Given the description of an element on the screen output the (x, y) to click on. 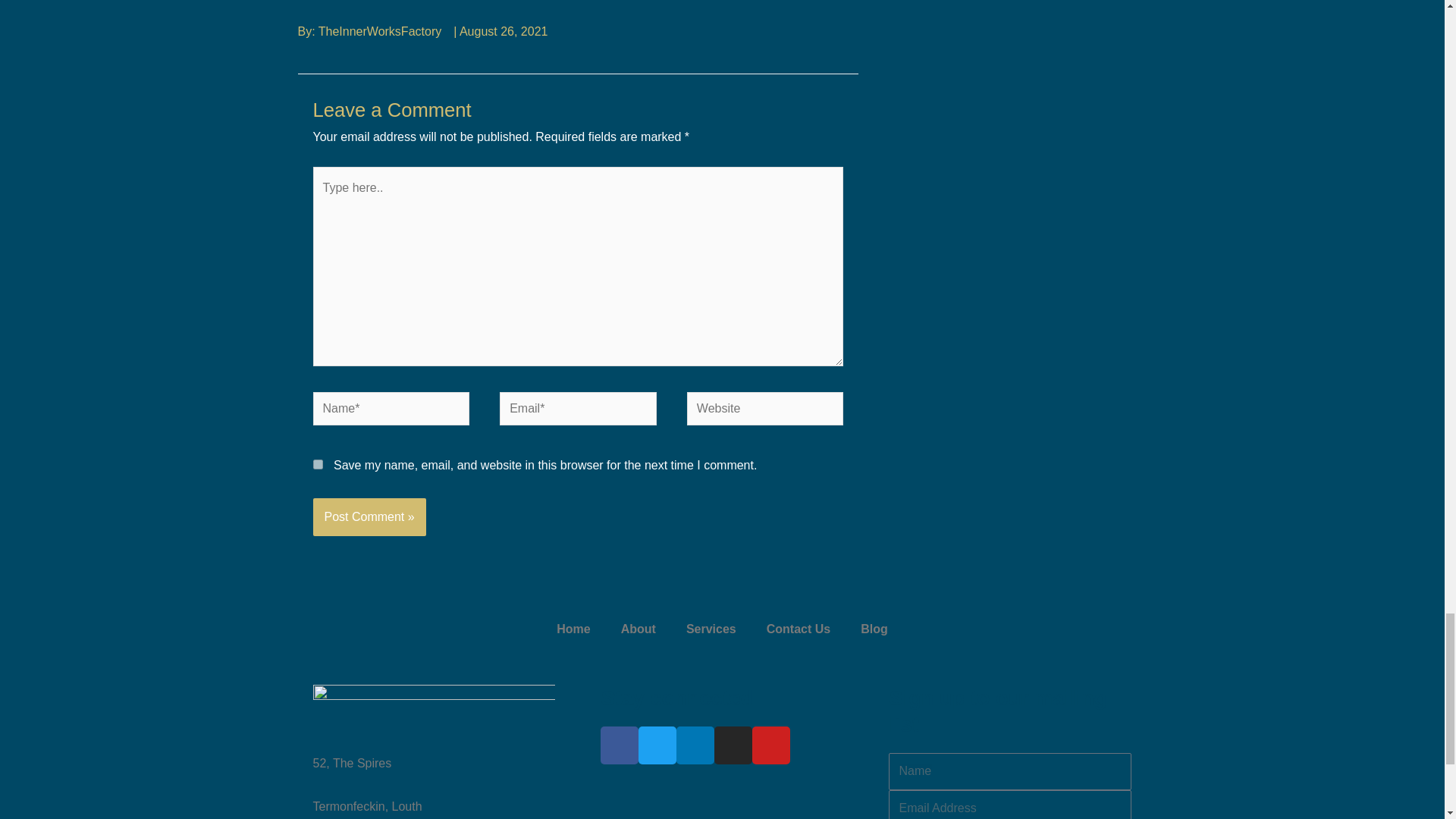
yes (317, 464)
